Given the description of an element on the screen output the (x, y) to click on. 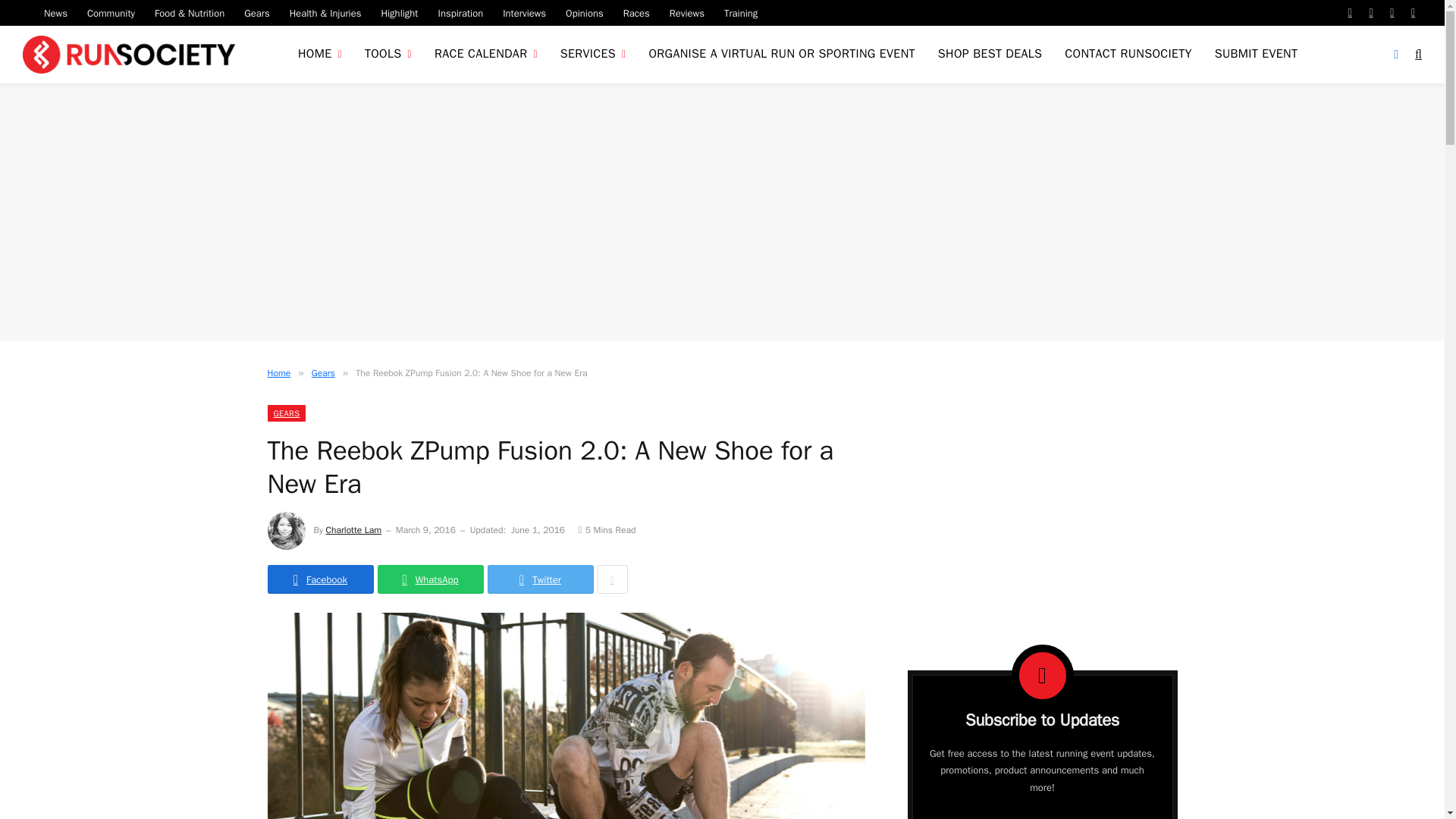
Share on Facebook (319, 579)
Switch to Dark Design - easier on eyes. (1396, 54)
Posts by Charlotte Lam (353, 530)
Share on WhatsApp (430, 579)
